Given the description of an element on the screen output the (x, y) to click on. 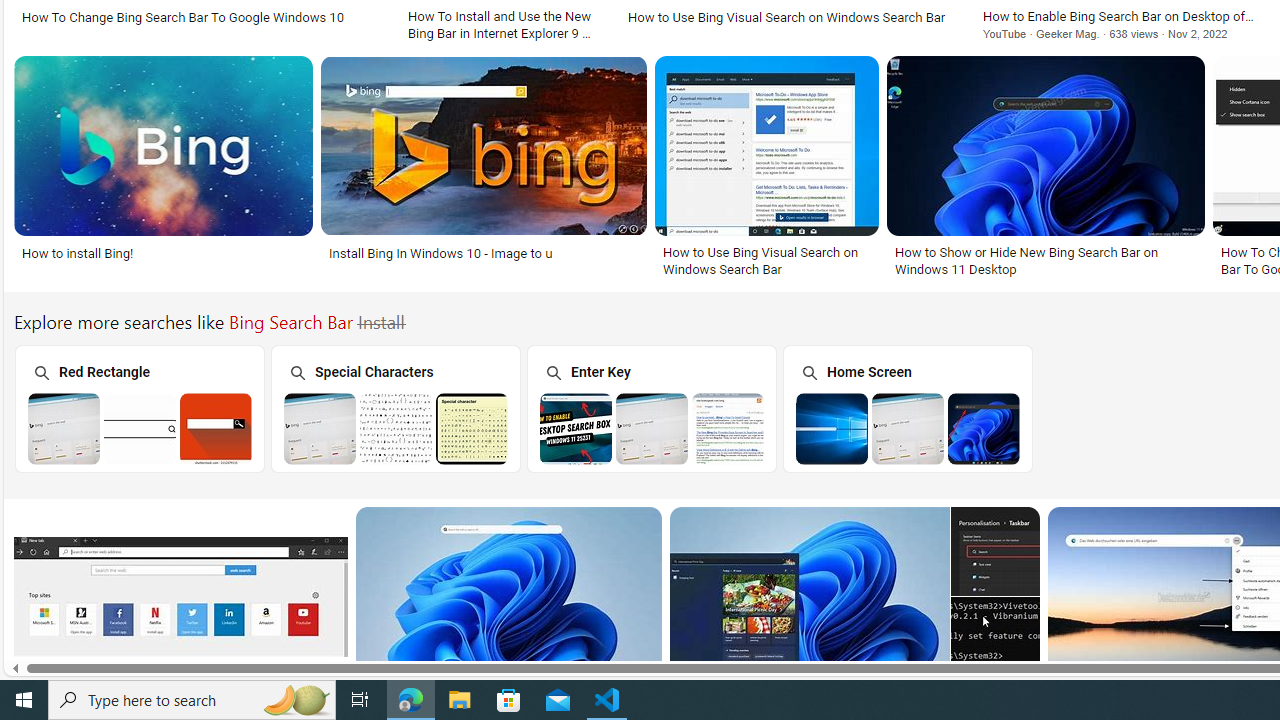
Red Rectangle (138, 407)
How to install Bing! (162, 253)
How to install Bing!Save (167, 169)
Bing Search Bar Special Characters (396, 428)
Bing Search Bar Enter Key (652, 428)
How to Use Bing Visual Search on Windows Search BarSave (771, 169)
Enter Key (651, 407)
Home Screen (907, 407)
Bing Search Bar Enter Key Enter Key (651, 408)
Bing Search Bar Special Characters Special Characters (395, 408)
